Given the description of an element on the screen output the (x, y) to click on. 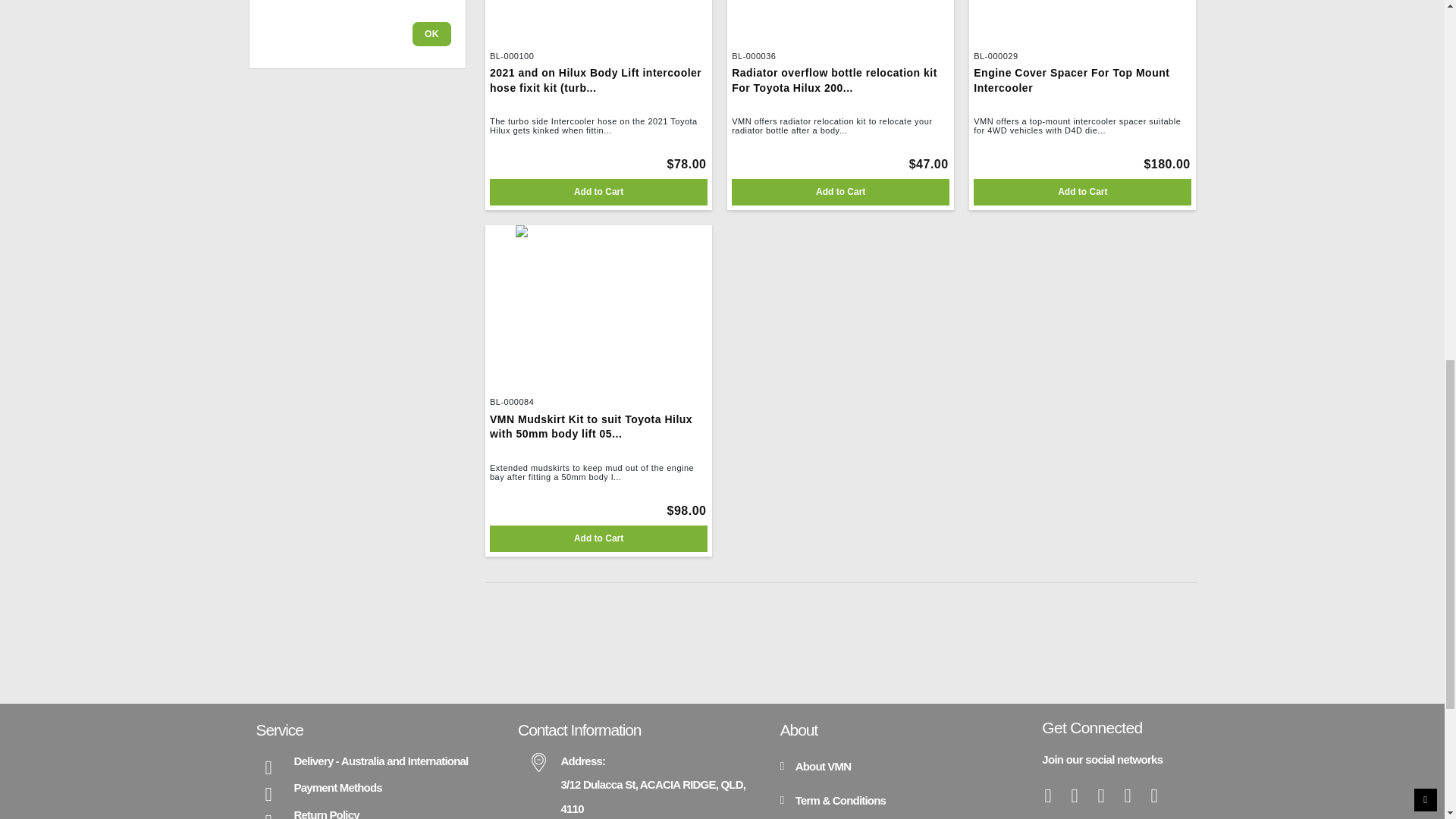
Add (840, 192)
Add (1082, 192)
Add (598, 538)
Add (598, 192)
